Given the description of an element on the screen output the (x, y) to click on. 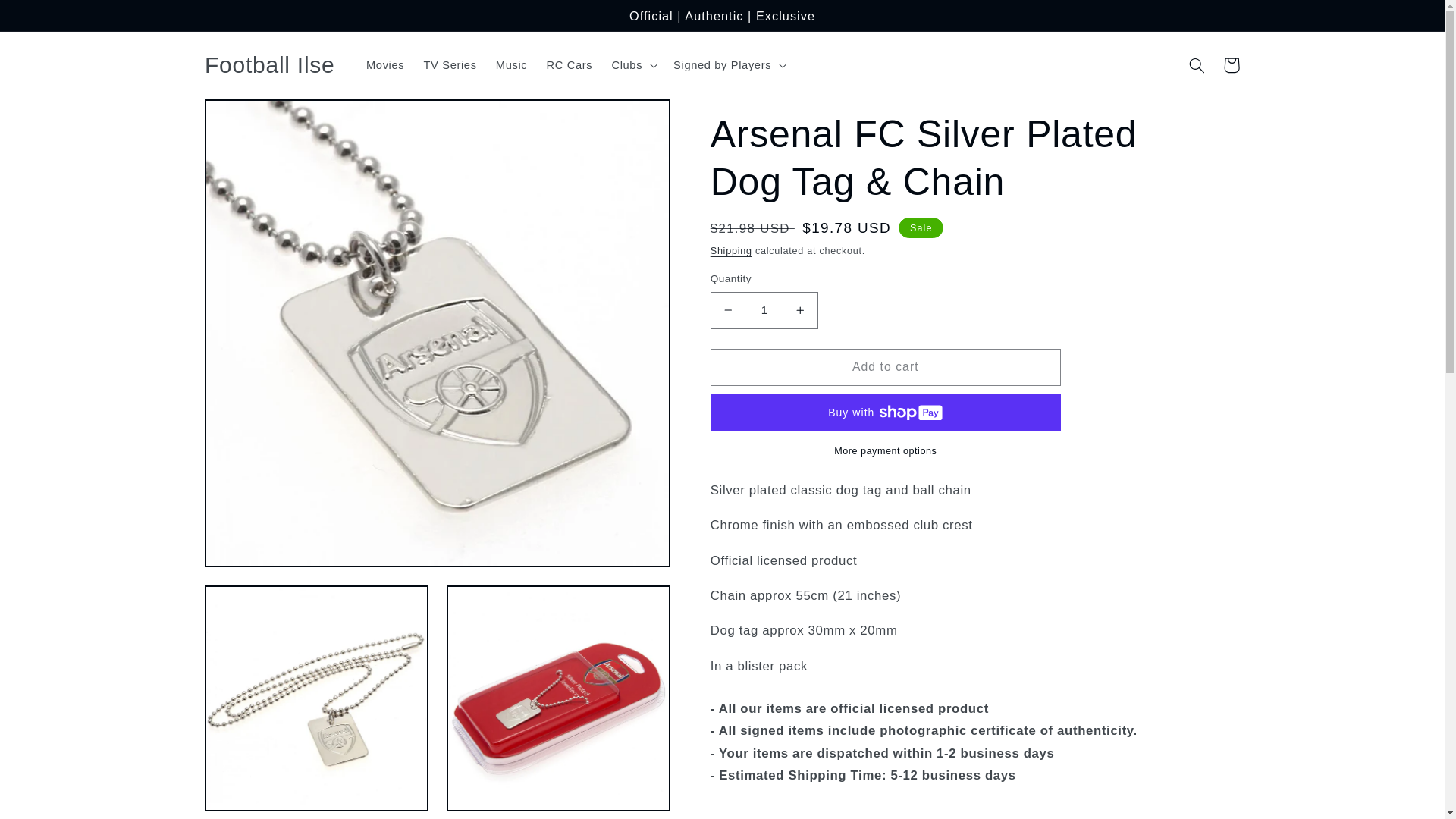
Movies (384, 64)
TV Series (449, 64)
RC Cars (569, 64)
1 (764, 310)
Football Ilse (269, 65)
Skip to content (48, 18)
Music (511, 64)
